Given the description of an element on the screen output the (x, y) to click on. 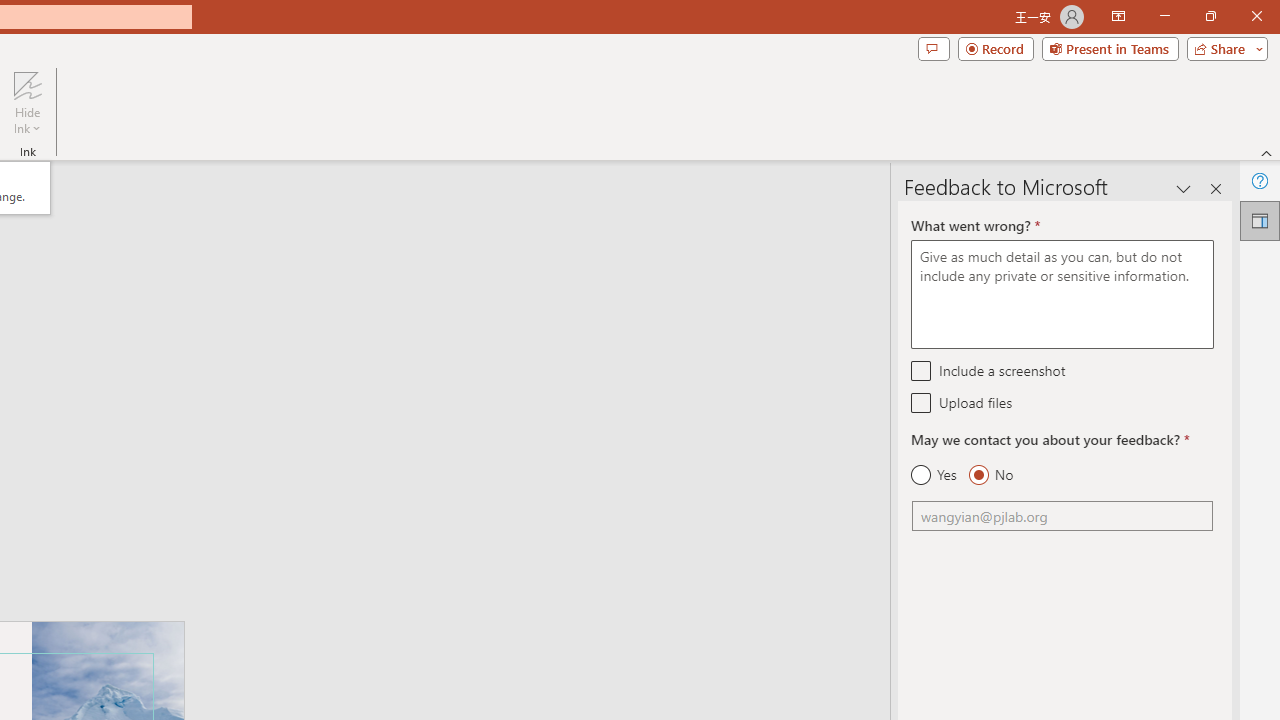
Hide Ink (27, 102)
